Given the description of an element on the screen output the (x, y) to click on. 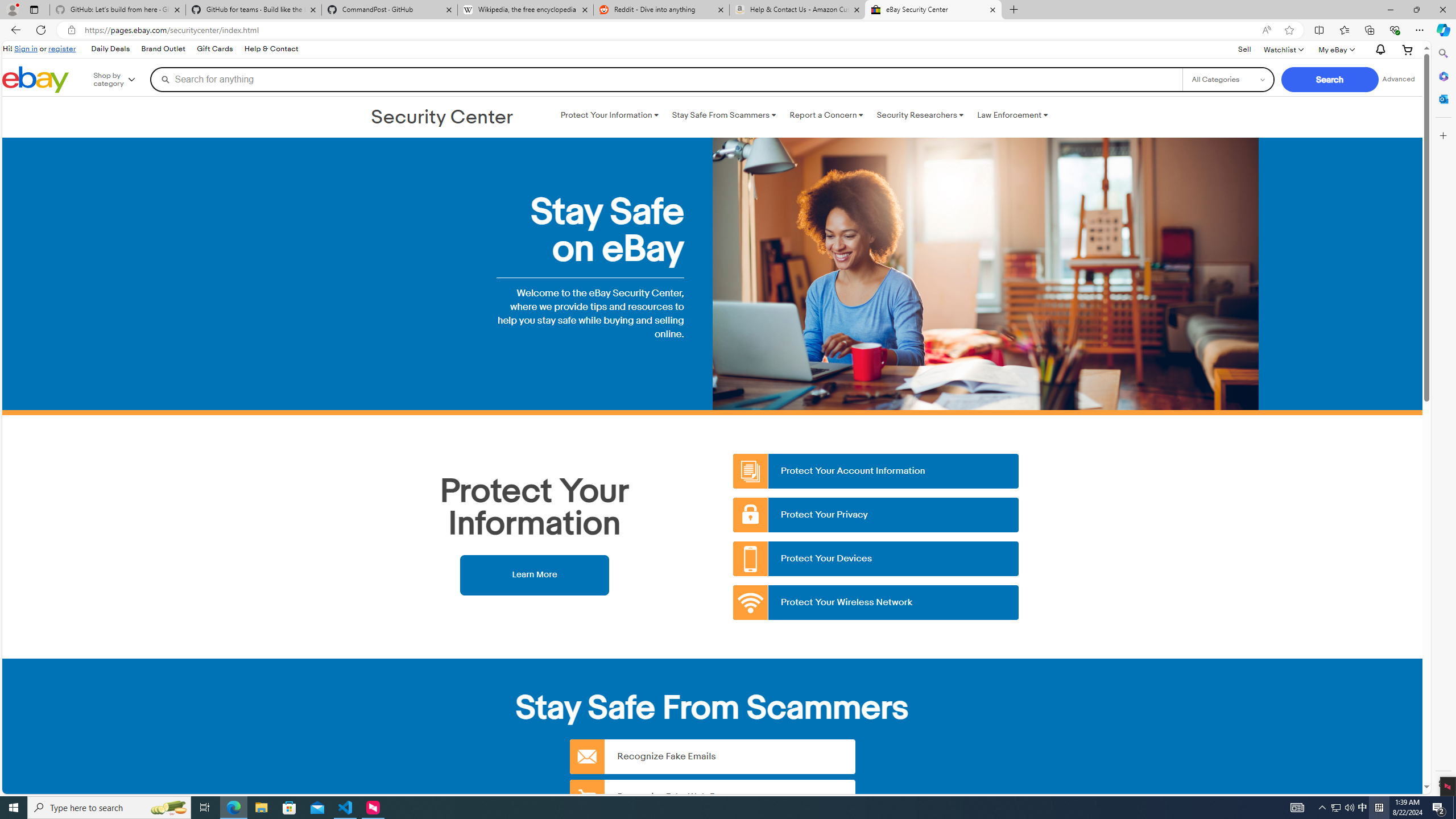
Protect Your Information  (608, 115)
Select a category for search (1228, 78)
